Given the description of an element on the screen output the (x, y) to click on. 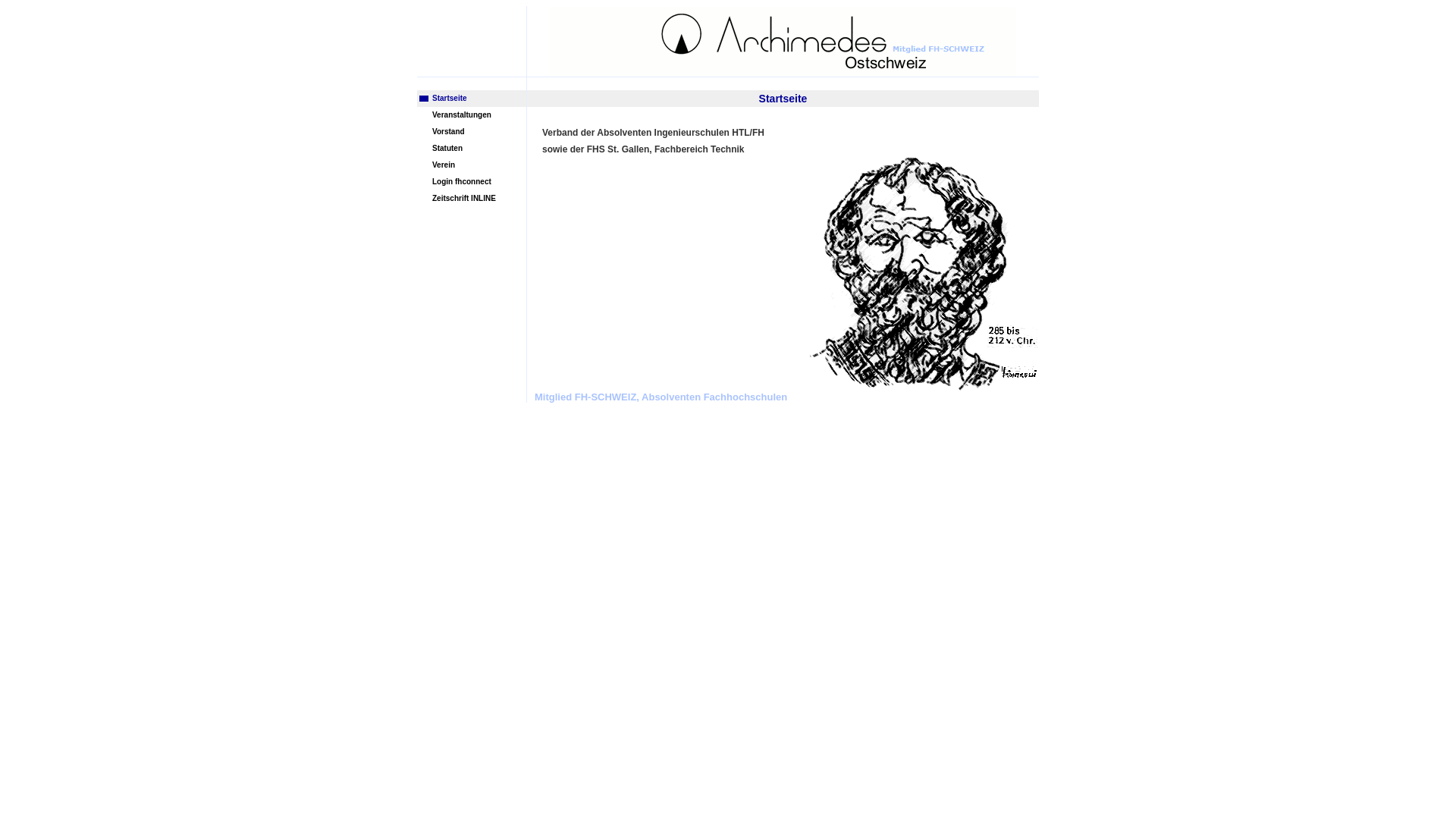
Zeitschrift INLINE Element type: text (471, 198)
Veranstaltungen Element type: text (471, 114)
Verein Element type: text (471, 164)
Startseite Element type: text (471, 98)
Login fhconnect Element type: text (471, 181)
Vorstand Element type: text (471, 131)
Statuten Element type: text (471, 148)
